Given the description of an element on the screen output the (x, y) to click on. 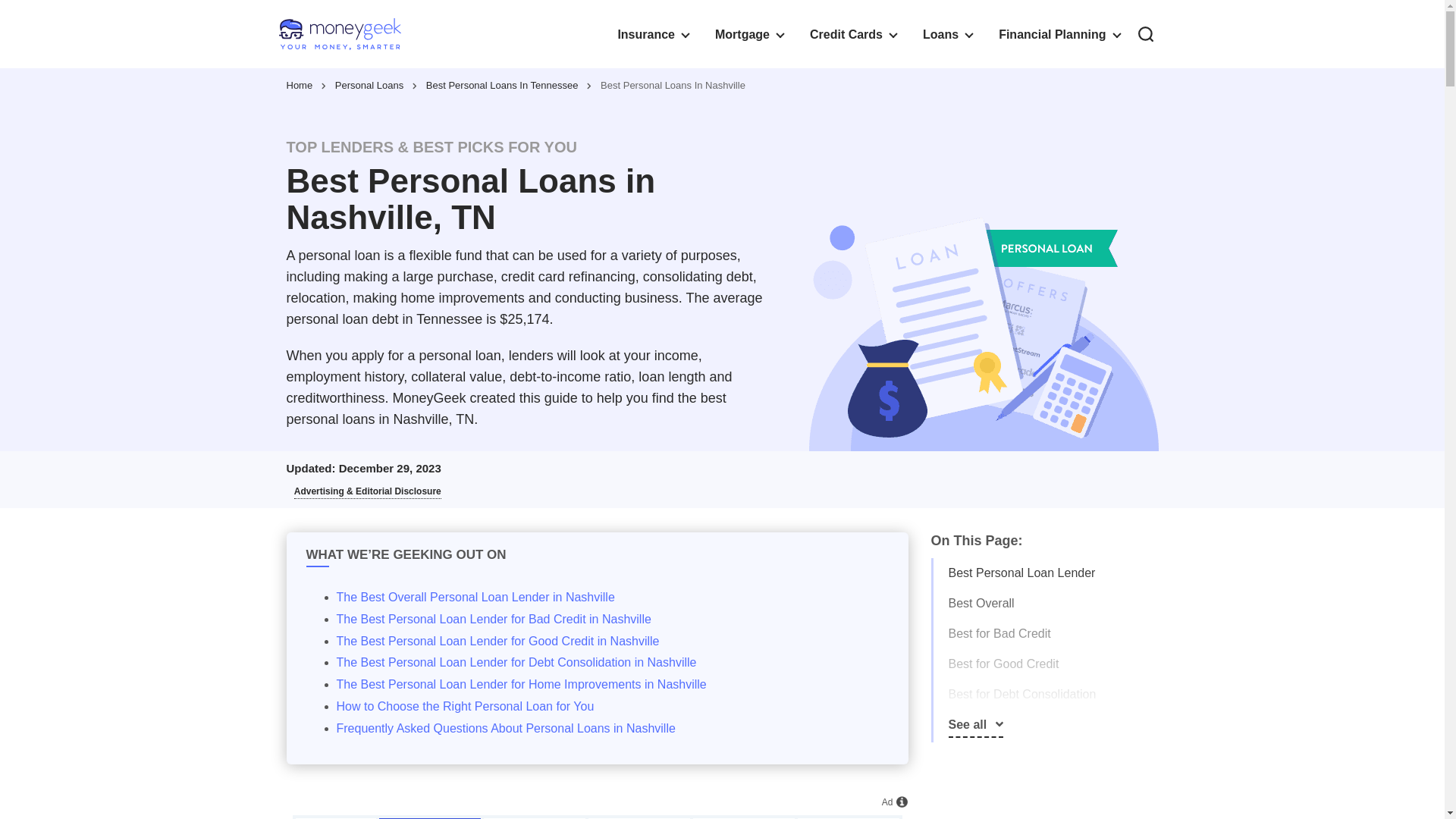
Insurance (652, 33)
Financial Planning (1058, 33)
Loans (946, 33)
Credit Cards (852, 33)
Mortgage (748, 33)
